Given the description of an element on the screen output the (x, y) to click on. 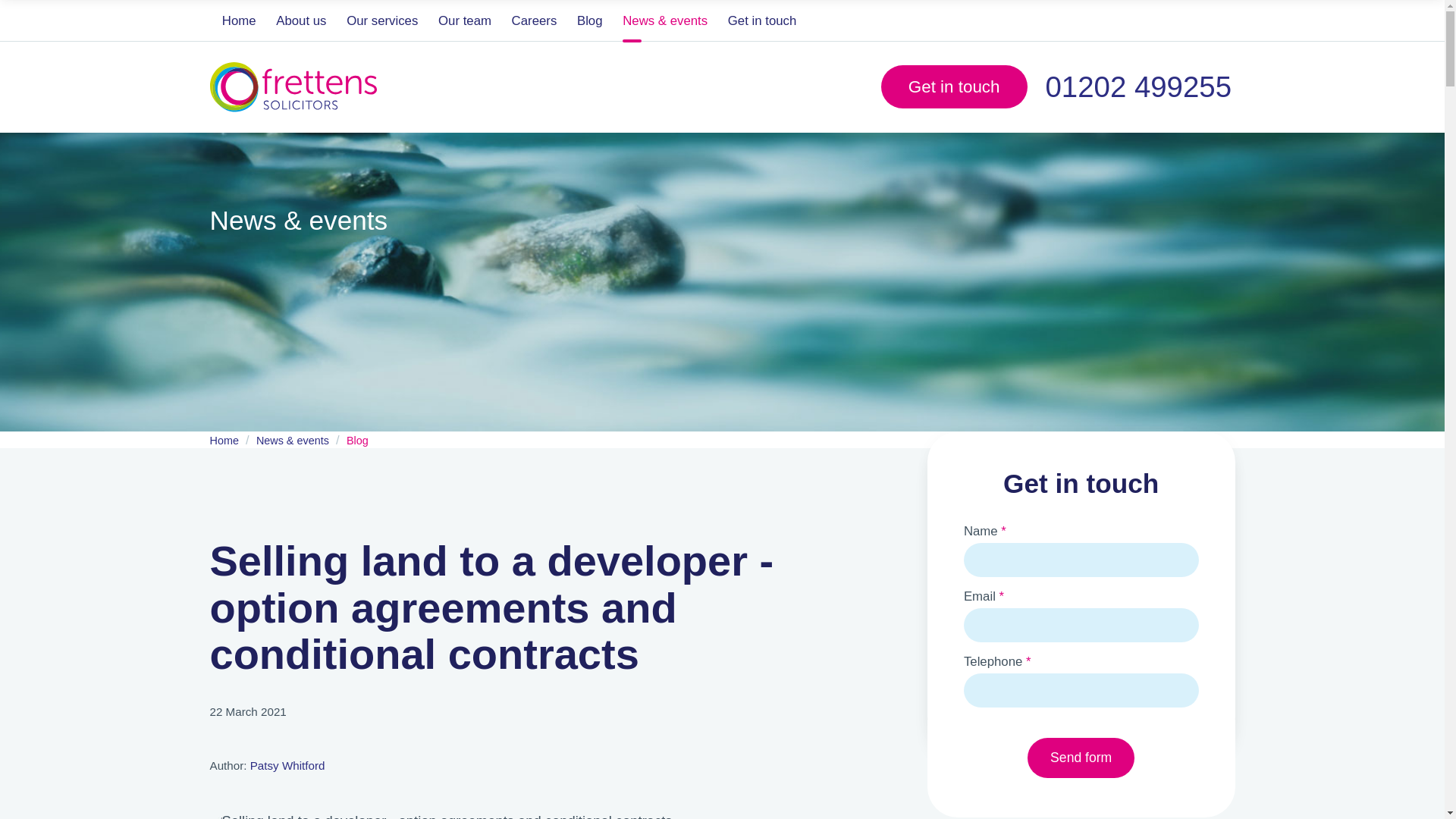
Home (239, 20)
Our services (382, 20)
Send form (1080, 757)
Our team (465, 20)
About us (301, 20)
